Given the description of an element on the screen output the (x, y) to click on. 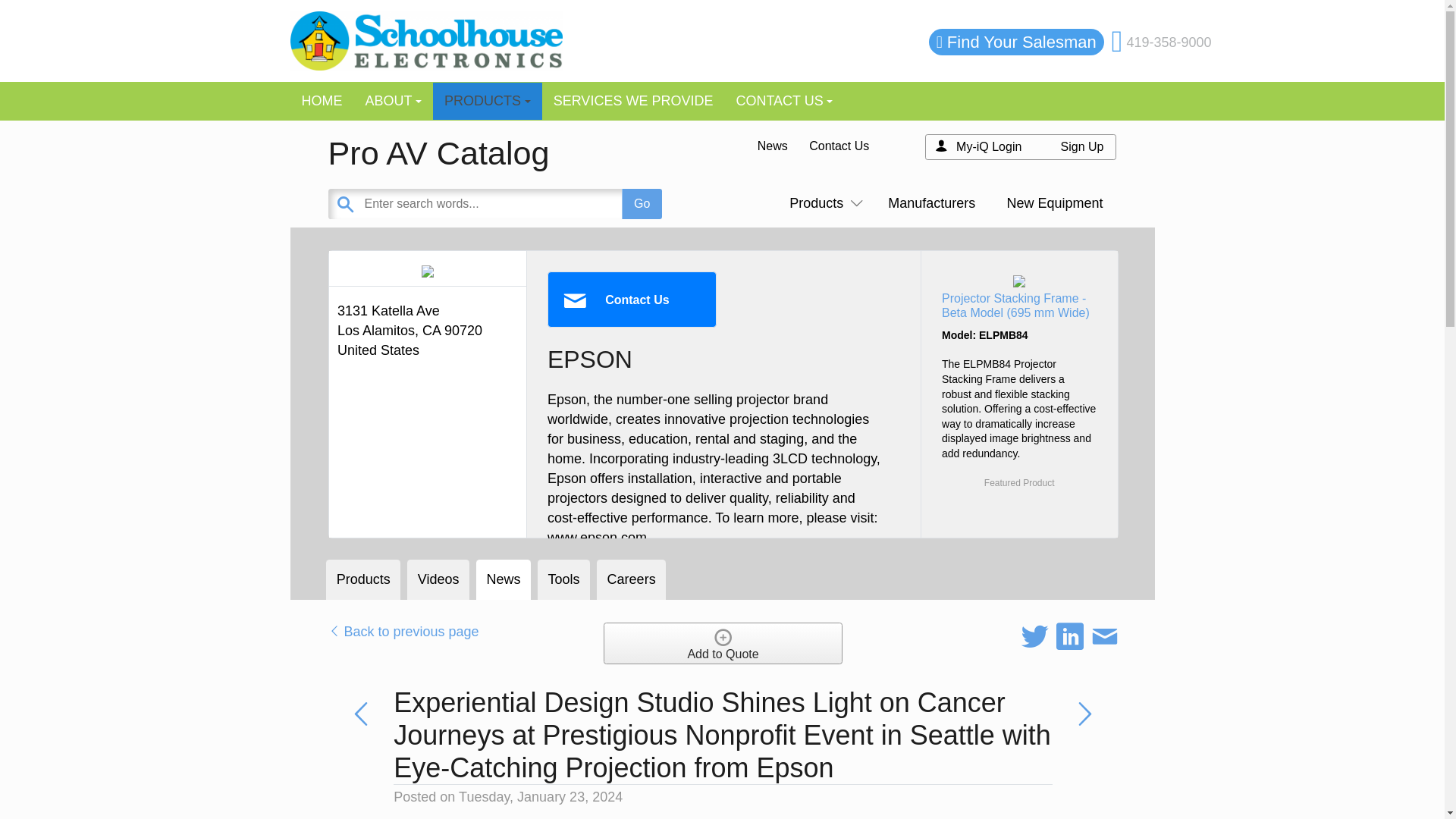
CONTACT US (783, 100)
Go (641, 204)
SERVICES WE PROVIDE (633, 100)
419-358-9000 (1168, 42)
HOME (321, 100)
ABOUT (392, 100)
Enter search words... (531, 204)
Go (641, 204)
Find Your Salesman (1021, 41)
PRODUCTS (486, 100)
